Given the description of an element on the screen output the (x, y) to click on. 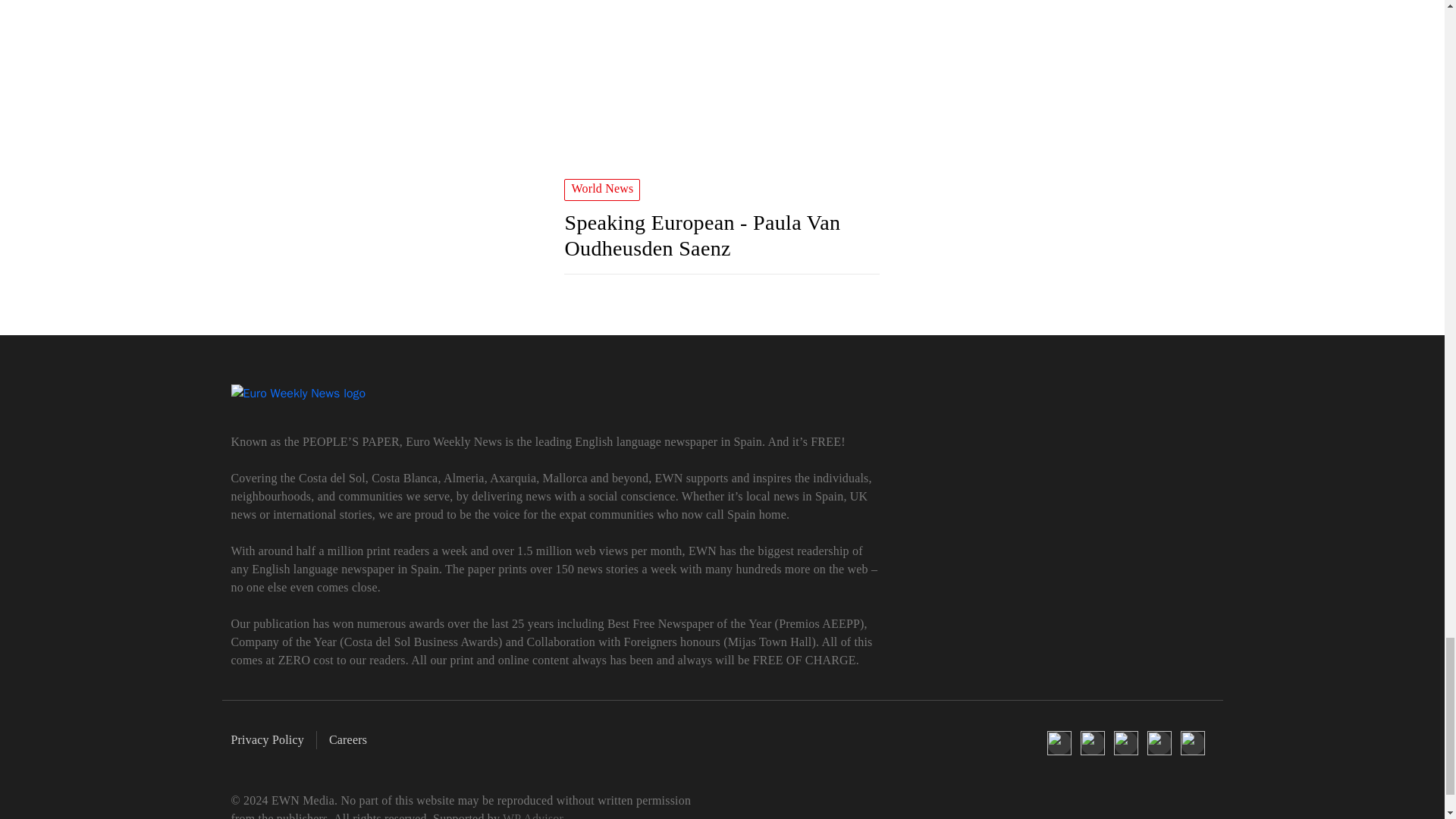
WP Advisor - WordPress done right! (532, 815)
